Given the description of an element on the screen output the (x, y) to click on. 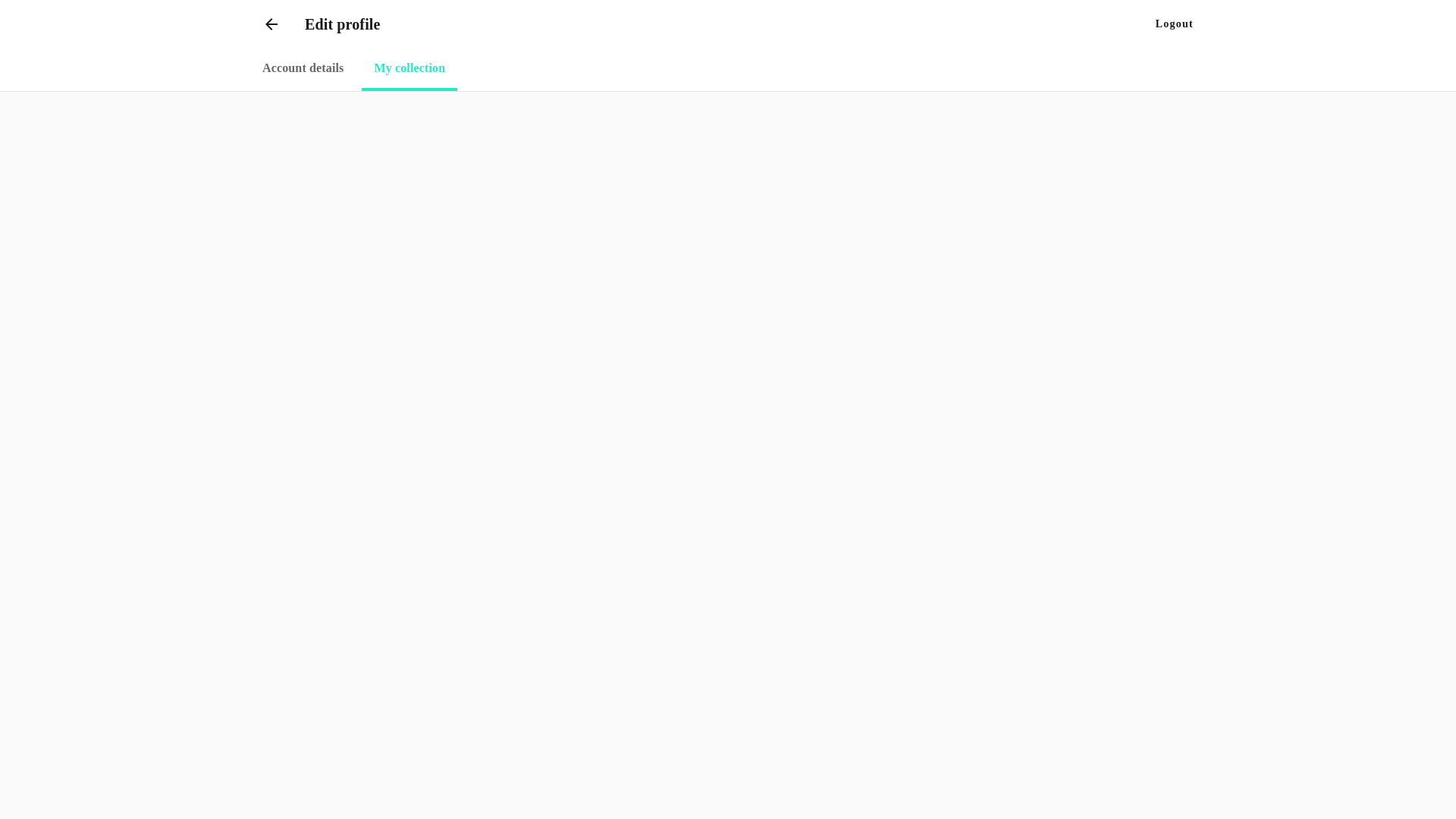
My collection Element type: text (409, 69)
Account details Element type: text (302, 69)
